Given the description of an element on the screen output the (x, y) to click on. 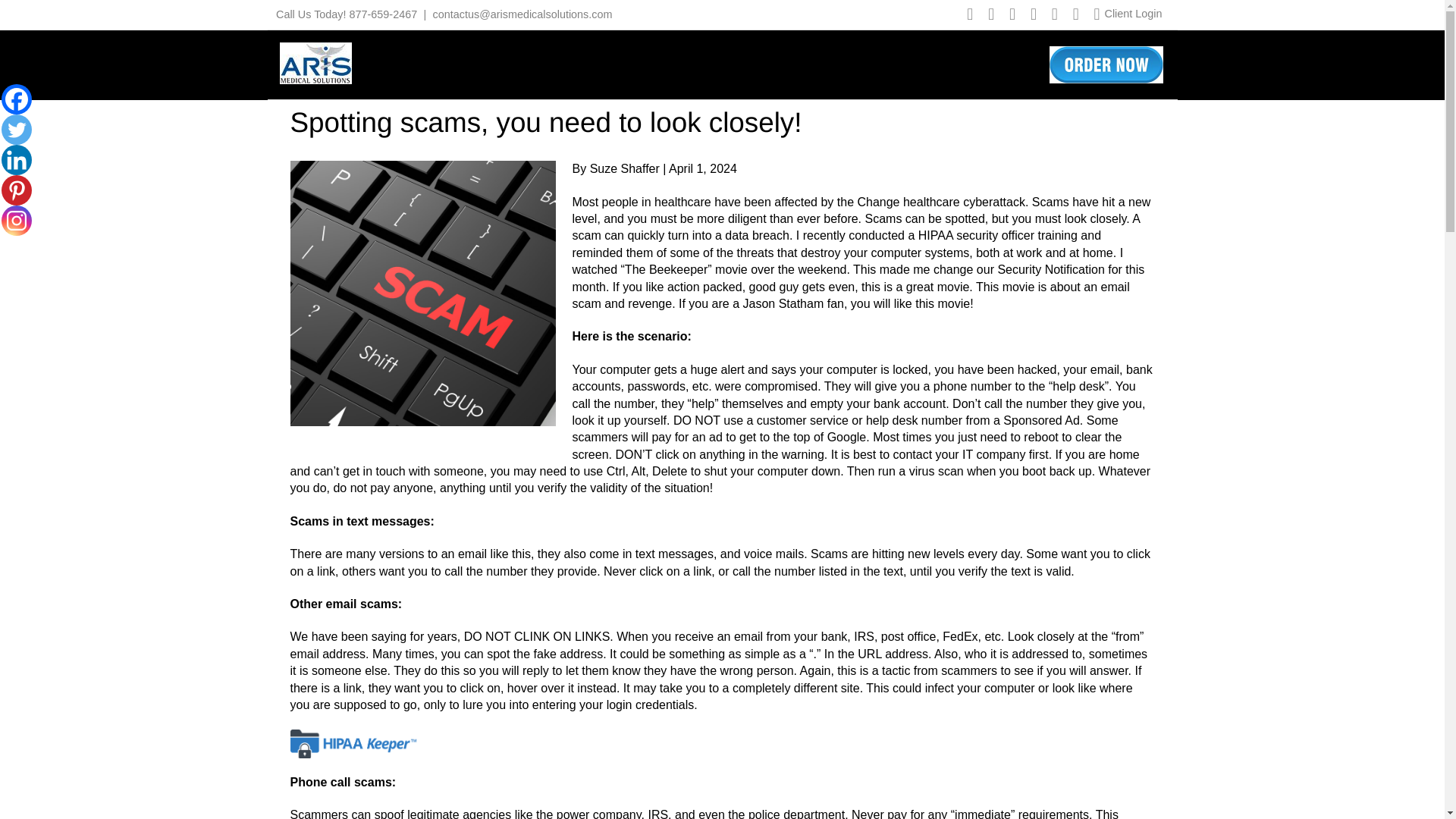
Linkedin (16, 159)
Facebook (16, 99)
Instagram (16, 220)
Blog (928, 63)
Pinterest (16, 190)
877-659-2467 (384, 14)
Services (767, 63)
About (557, 63)
Home (491, 63)
Client Login (1132, 13)
